Given the description of an element on the screen output the (x, y) to click on. 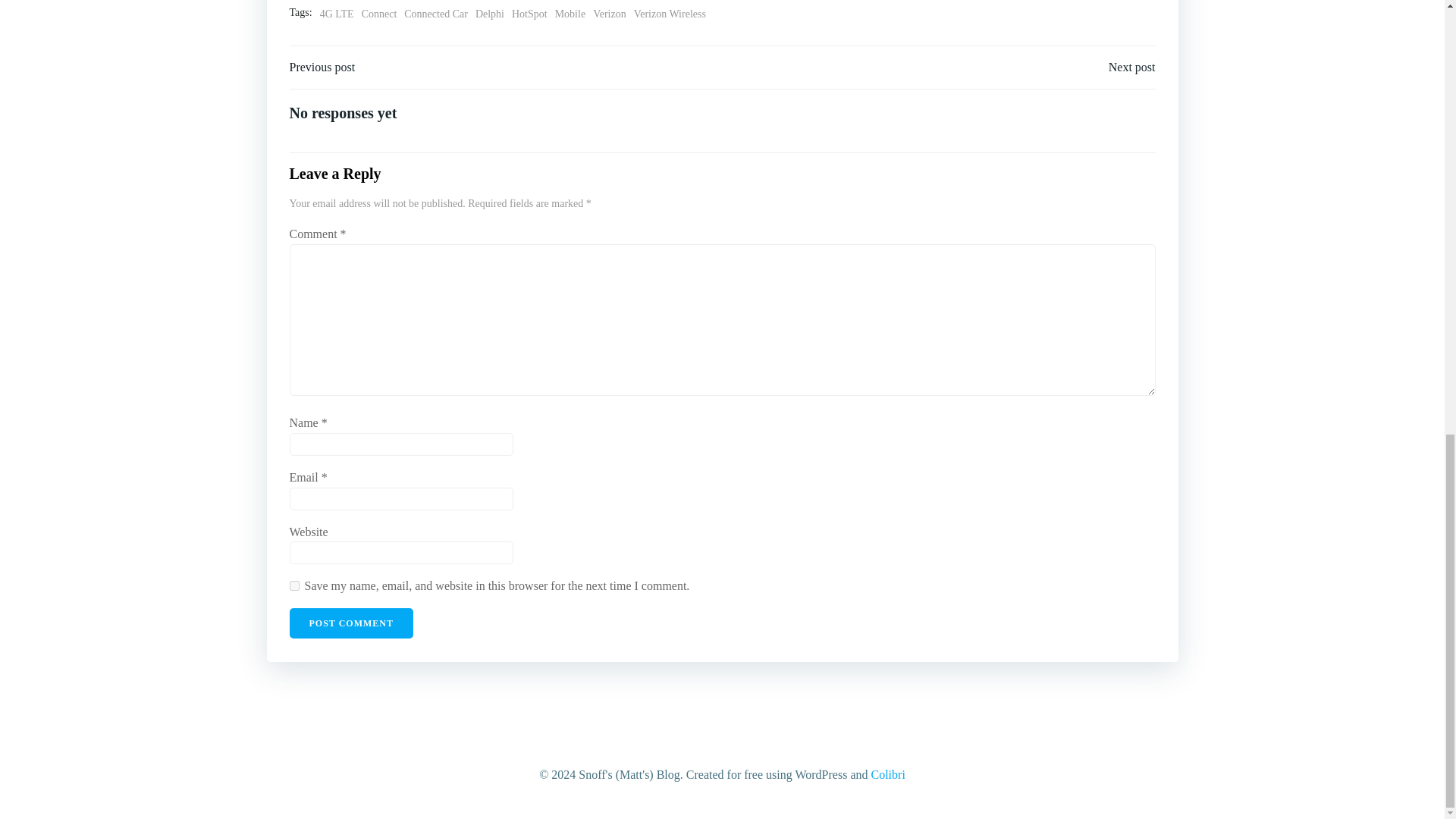
Mobile (569, 13)
Internet (361, 1)
Delphi Tag (489, 13)
Verizon Wireless (459, 1)
HotSpot Tag (529, 13)
Connect (379, 13)
Verizon Wireless (669, 13)
4G LTE Tag (336, 13)
yes (294, 585)
HotSpot (529, 13)
Next post (1132, 67)
Delphi (489, 13)
Mobile Tag (569, 13)
Connect Tag (379, 13)
4G LTE (336, 13)
